Given the description of an element on the screen output the (x, y) to click on. 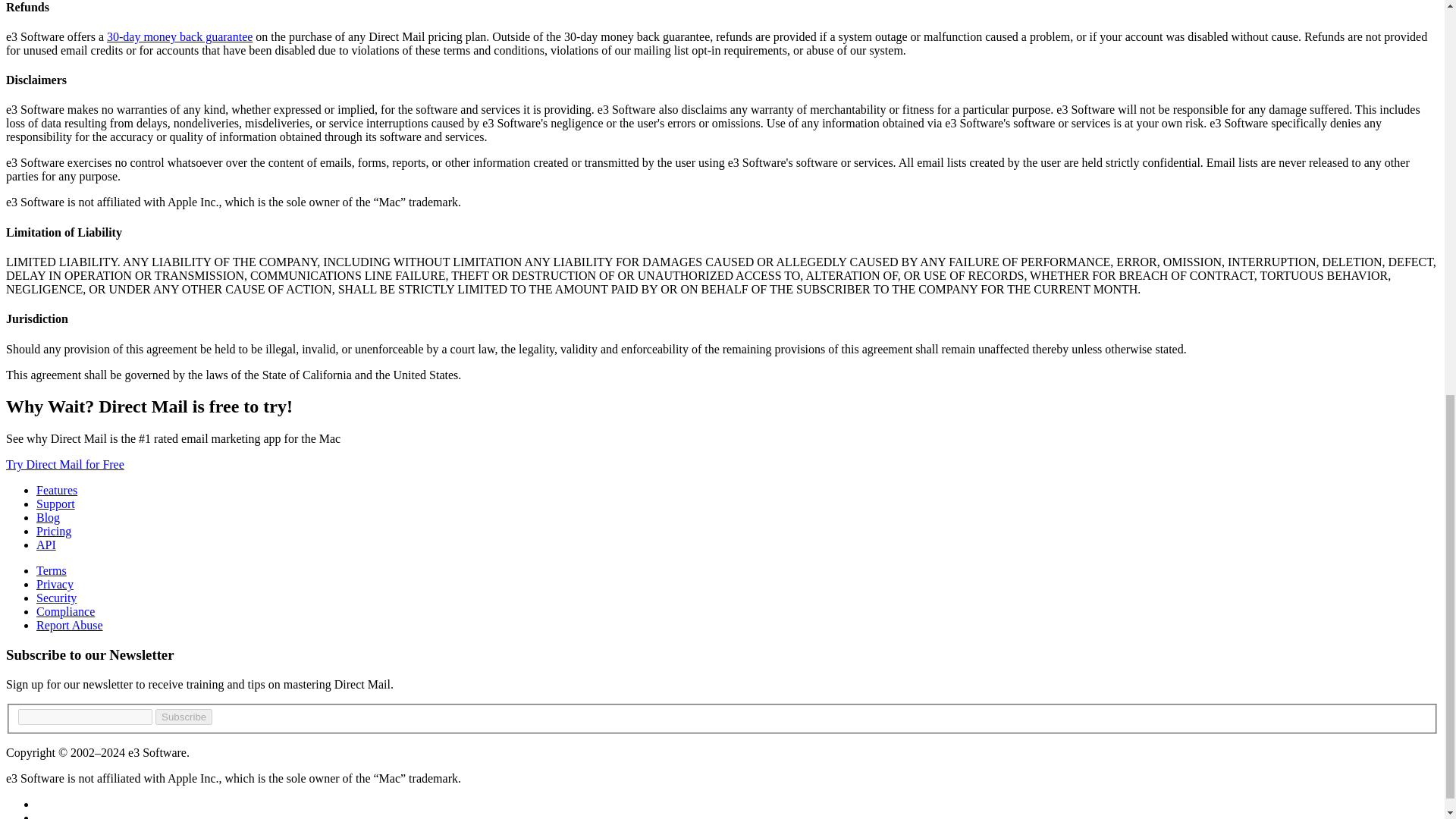
Terms (51, 570)
Privacy (55, 584)
Subscribe (183, 716)
Report Abuse (69, 625)
Pricing (53, 530)
30-day money back guarantee (178, 36)
Try Direct Mail for Free (64, 463)
Support (55, 503)
Subscribe (183, 716)
API (46, 544)
